Given the description of an element on the screen output the (x, y) to click on. 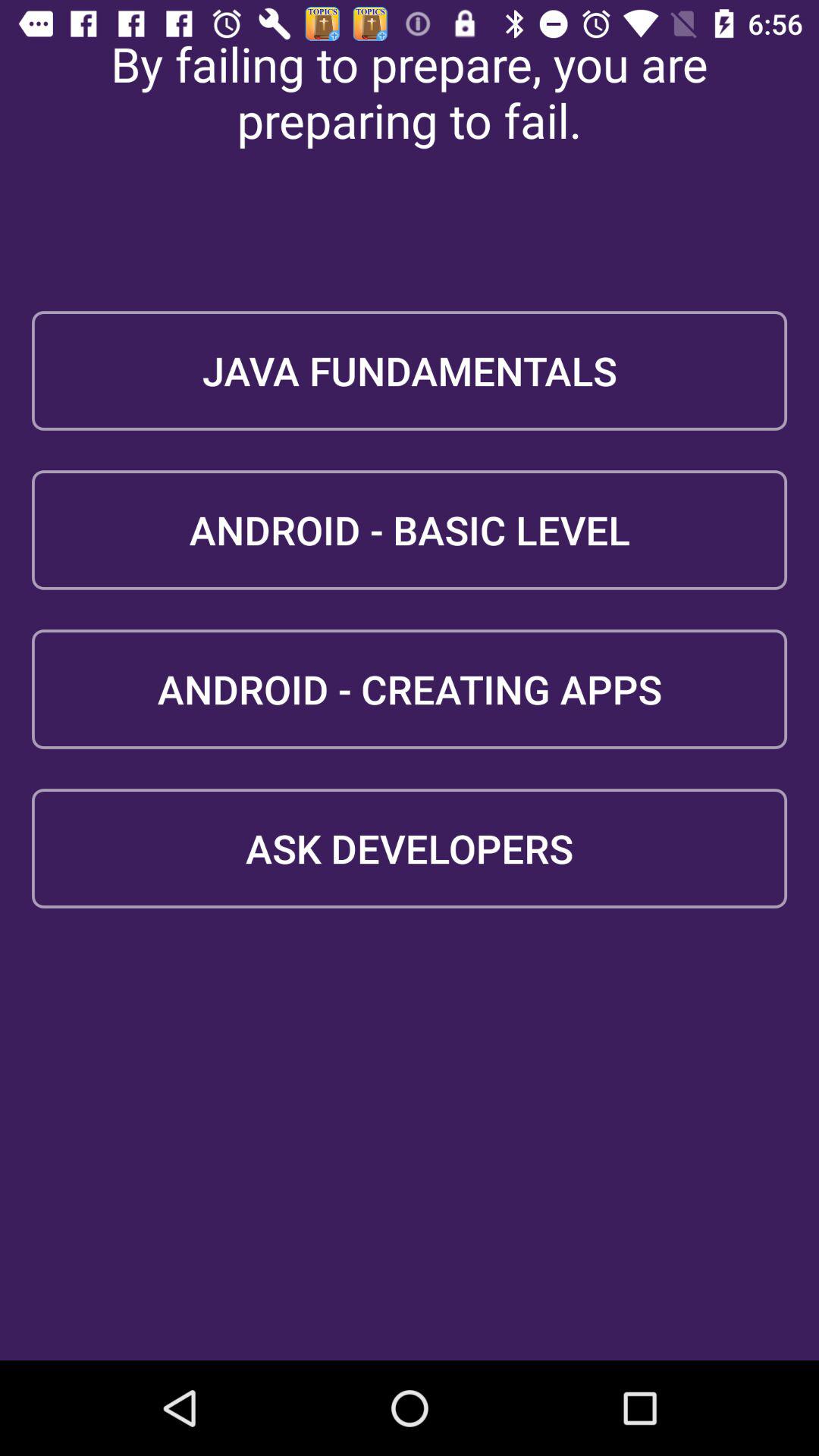
swipe until android - creating apps icon (409, 689)
